Given the description of an element on the screen output the (x, y) to click on. 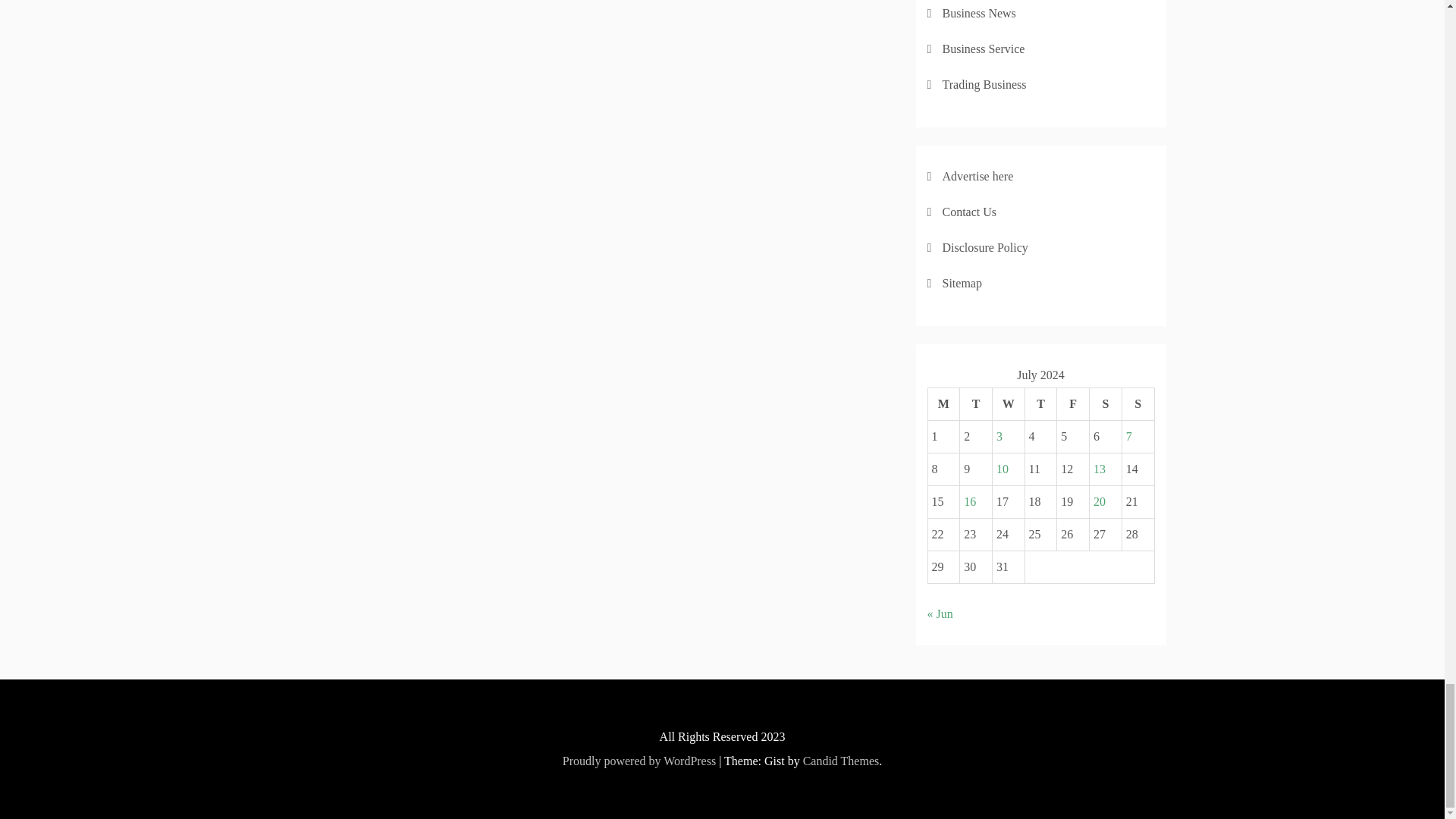
Saturday (1105, 403)
Thursday (1041, 403)
Monday (943, 403)
Tuesday (975, 403)
Sunday (1137, 403)
Friday (1073, 403)
Wednesday (1008, 403)
